Given the description of an element on the screen output the (x, y) to click on. 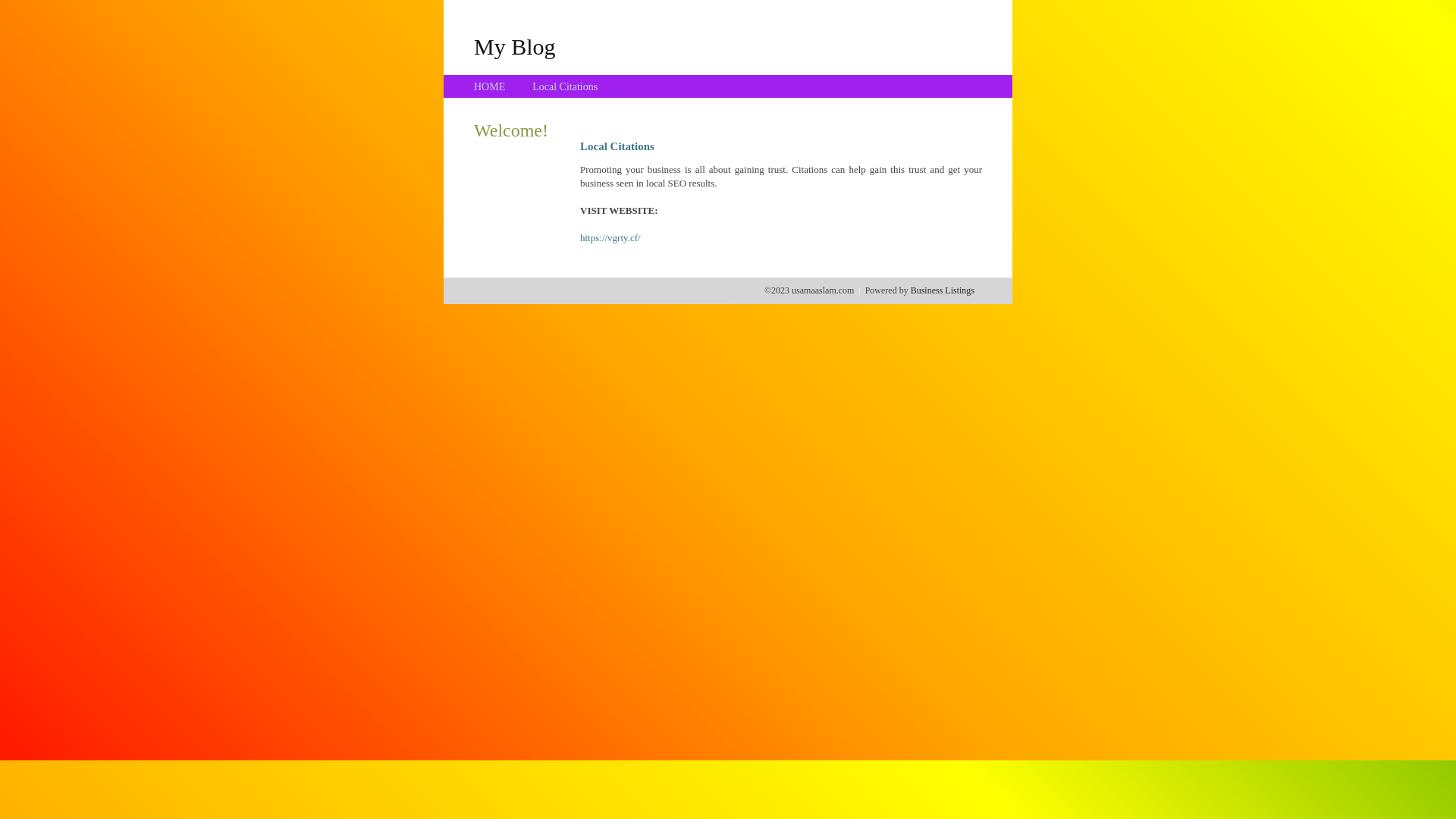
My Blog Element type: text (514, 46)
HOME Element type: text (489, 86)
Local Citations Element type: text (564, 86)
https://vgrty.cf/ Element type: text (610, 237)
Business Listings Element type: text (942, 290)
